Given the description of an element on the screen output the (x, y) to click on. 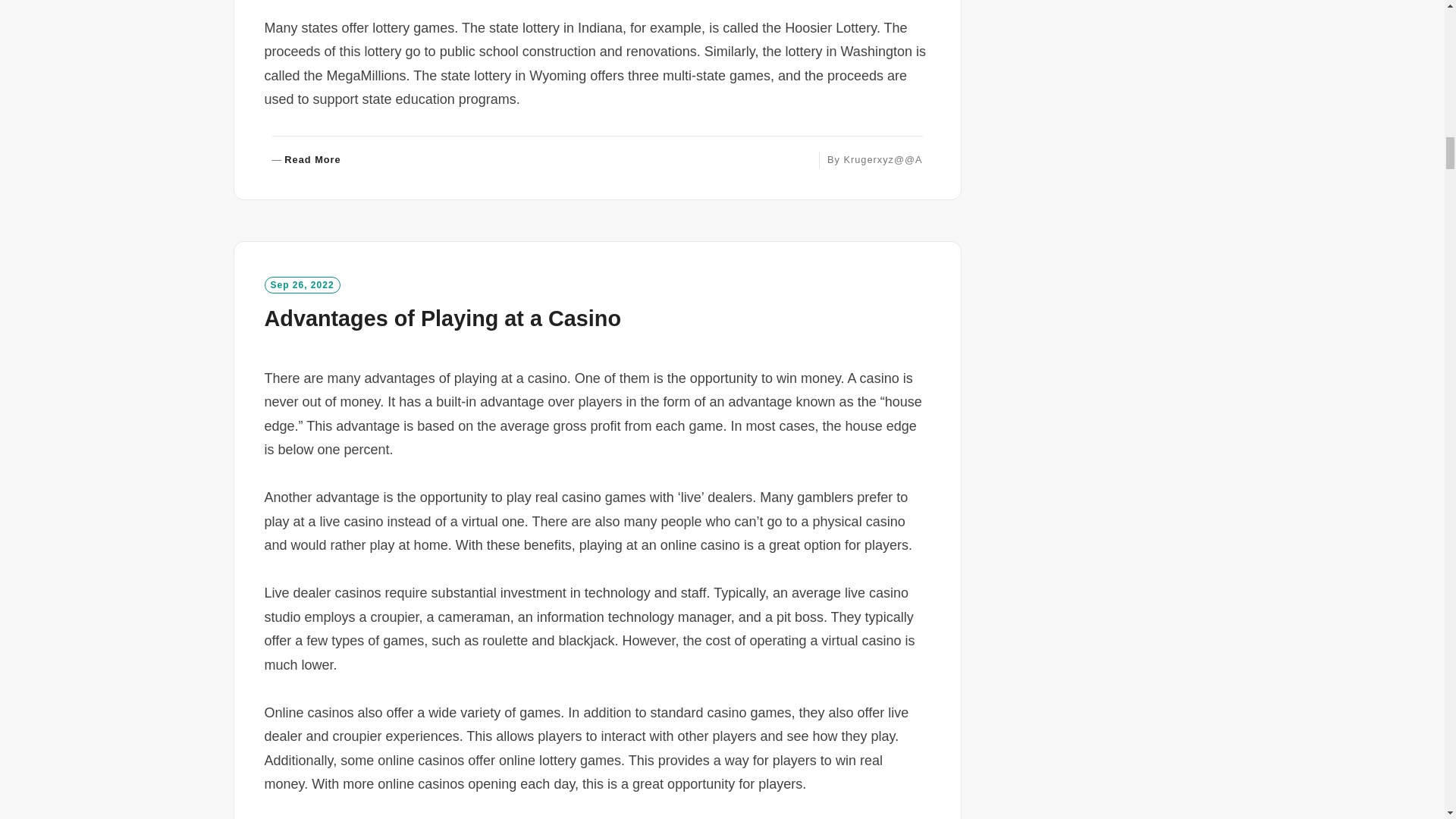
Advantages of Playing at a Casino (305, 160)
Sep 26, 2022 (441, 318)
